Given the description of an element on the screen output the (x, y) to click on. 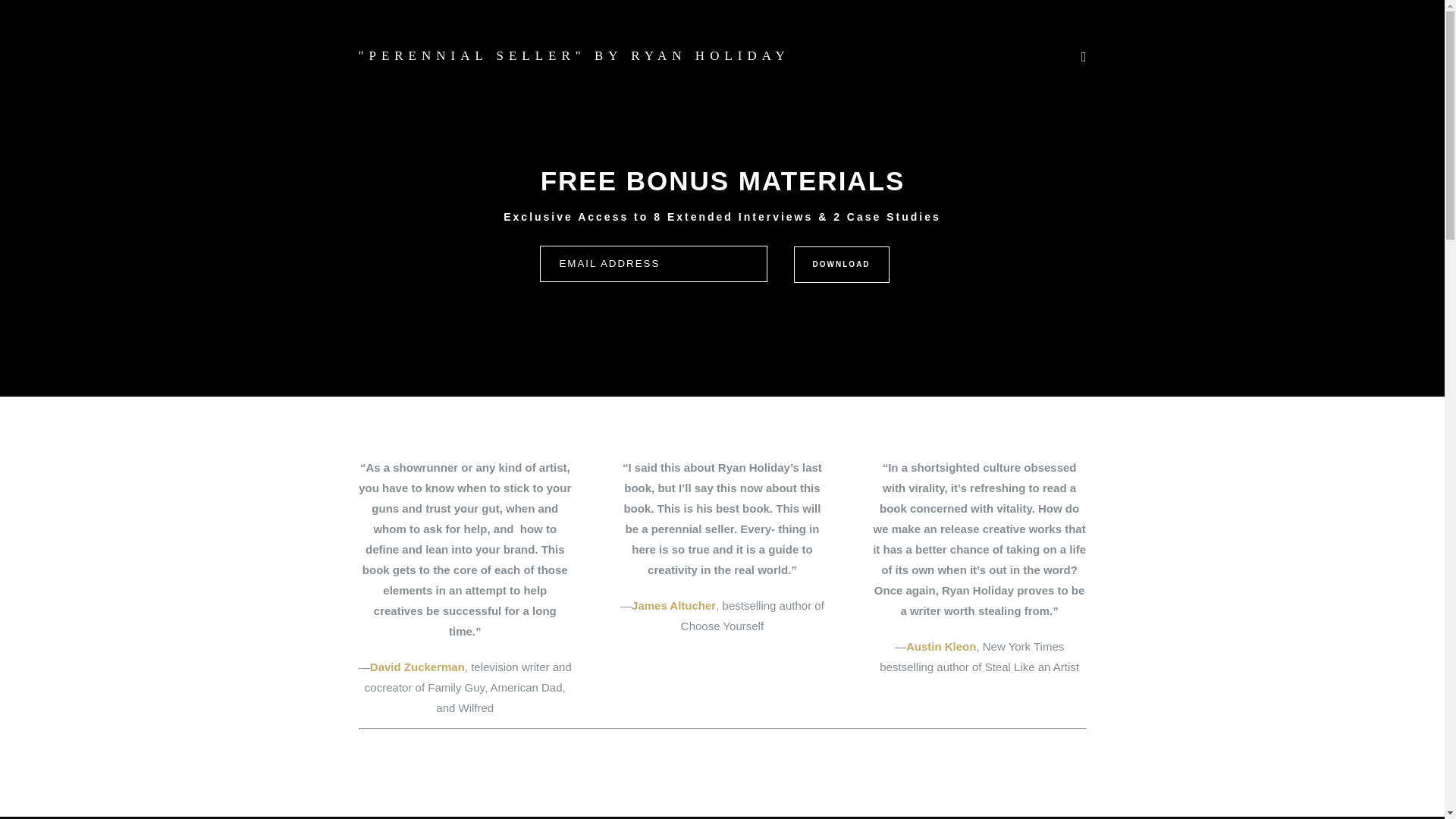
Download (841, 264)
"PERENNIAL SELLER" BY RYAN HOLIDAY (573, 55)
Download (841, 264)
"Perennial Seller" by Ryan Holiday (573, 55)
